Given the description of an element on the screen output the (x, y) to click on. 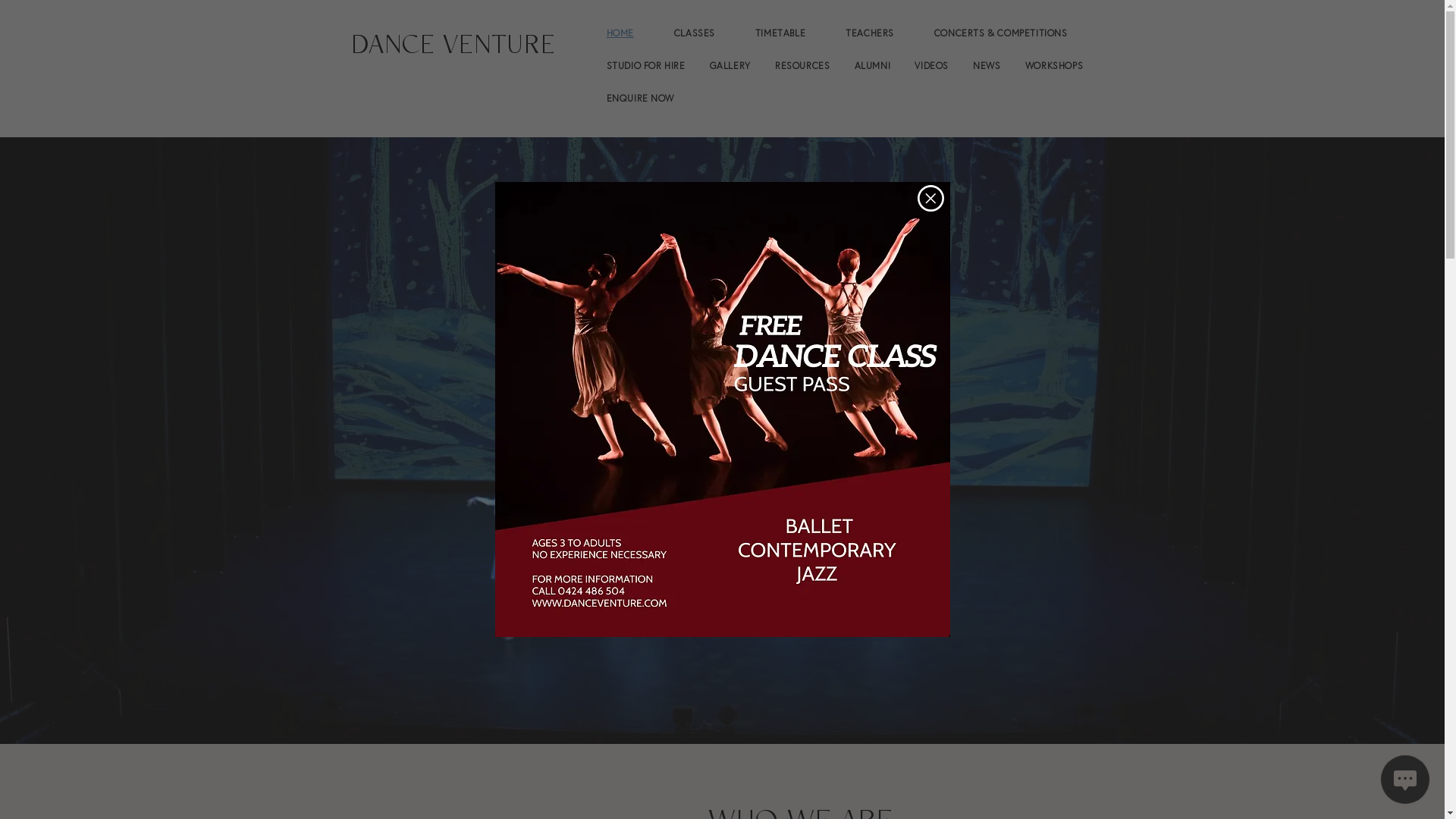
ENQUIRE NOW Element type: text (846, 97)
RESOURCES Element type: text (803, 65)
NEWS Element type: text (988, 65)
WORKSHOPS Element type: text (1055, 65)
HOME Element type: text (629, 32)
STUDIO FOR HIRE Element type: text (647, 65)
DANCE VENTURE Element type: text (452, 48)
TEACHERS Element type: text (878, 32)
GALLERY Element type: text (731, 65)
ALUMNI Element type: text (874, 65)
TIMETABLE Element type: text (789, 32)
Back to site Element type: hover (930, 198)
VIDEOS Element type: text (932, 65)
